Given the description of an element on the screen output the (x, y) to click on. 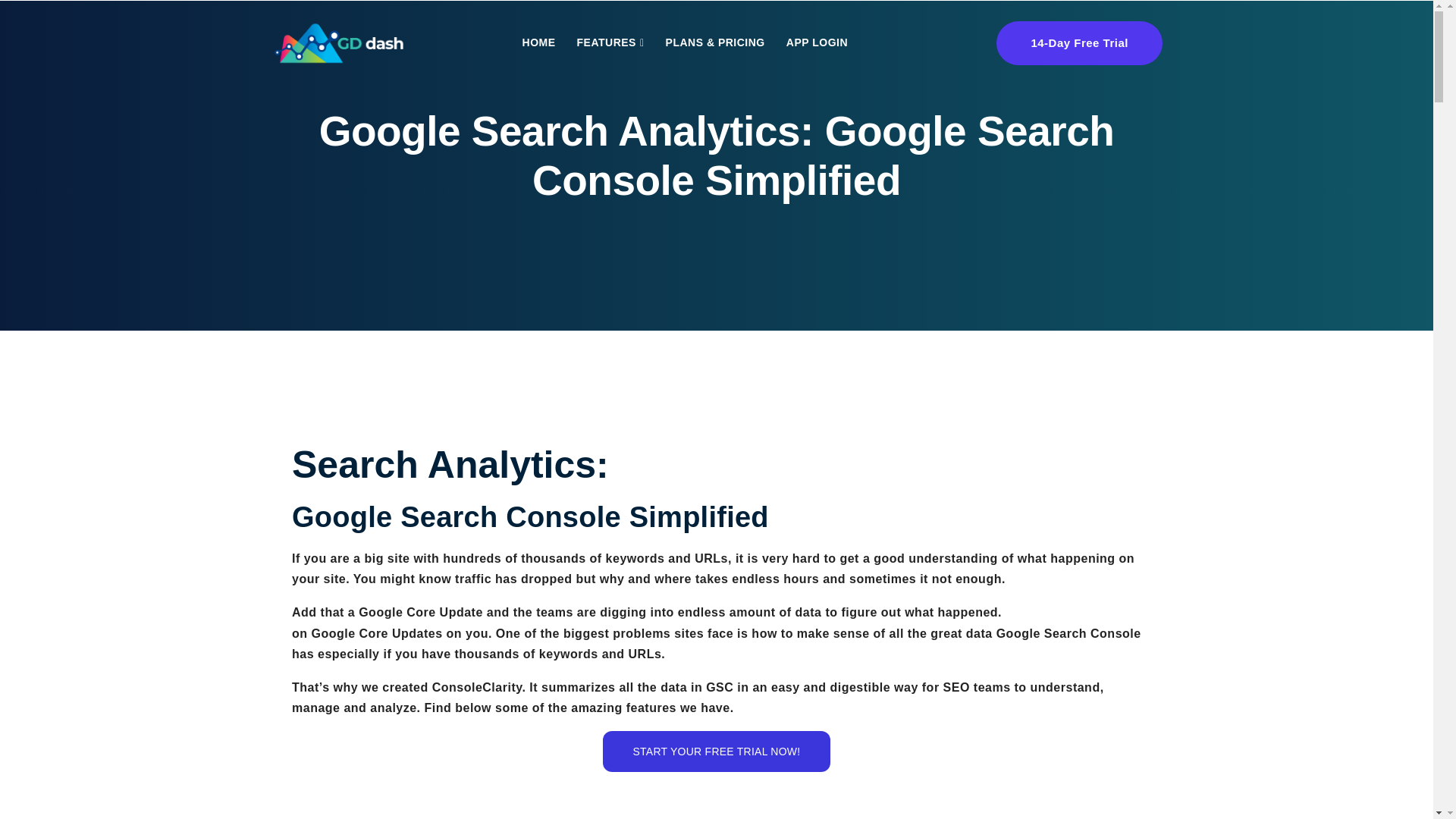
14-Day Free Trial (1078, 43)
Features (610, 42)
App Login (817, 41)
APP LOGIN (817, 41)
FEATURES (610, 42)
START YOUR FREE TRIAL NOW! (716, 751)
